Given the description of an element on the screen output the (x, y) to click on. 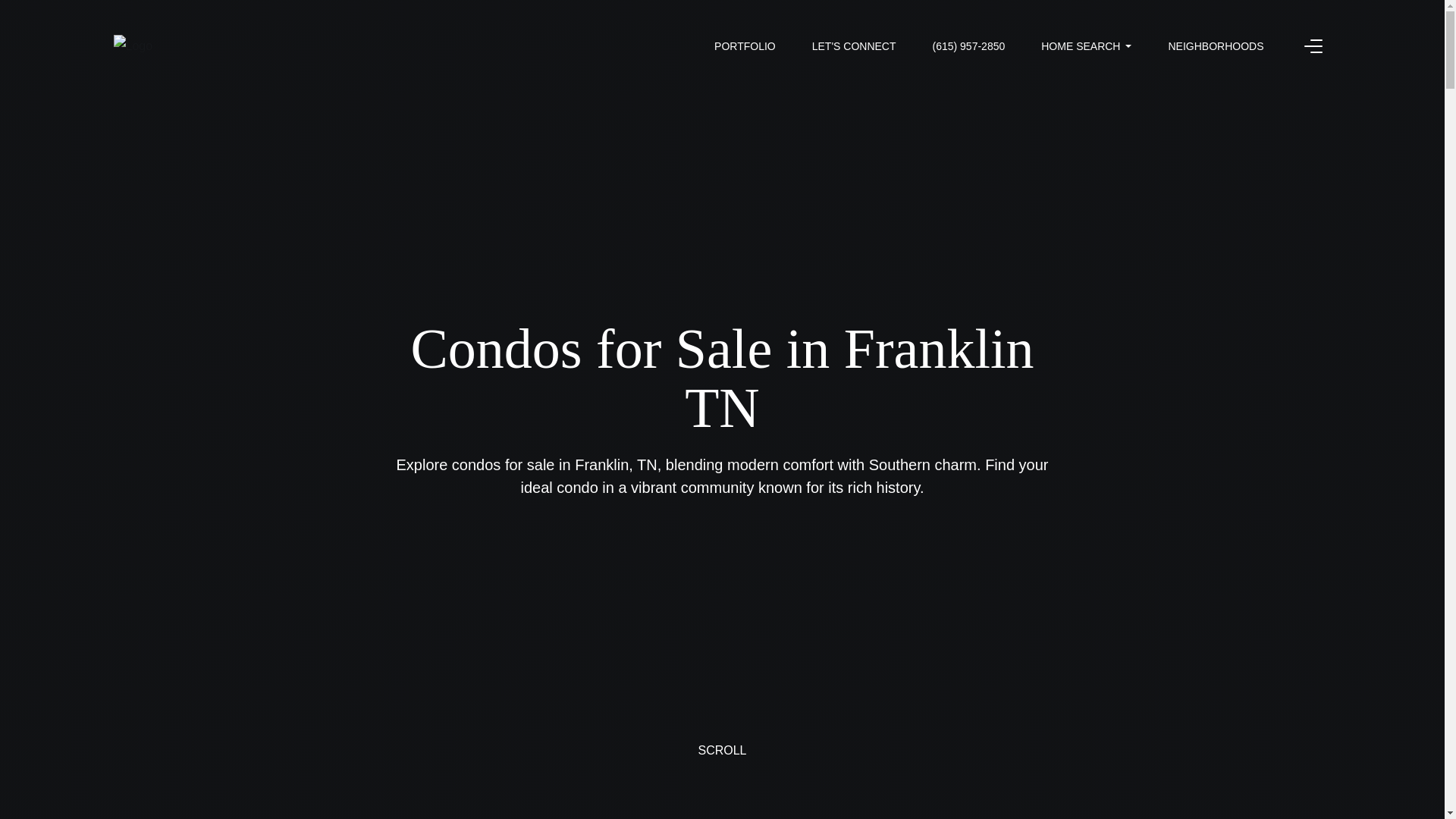
LET'S CONNECT (854, 46)
SCROLL (722, 765)
PORTFOLIO (745, 46)
SCROLL (722, 765)
NEIGHBORHOODS (1215, 46)
HOME SEARCH (1086, 46)
